Given the description of an element on the screen output the (x, y) to click on. 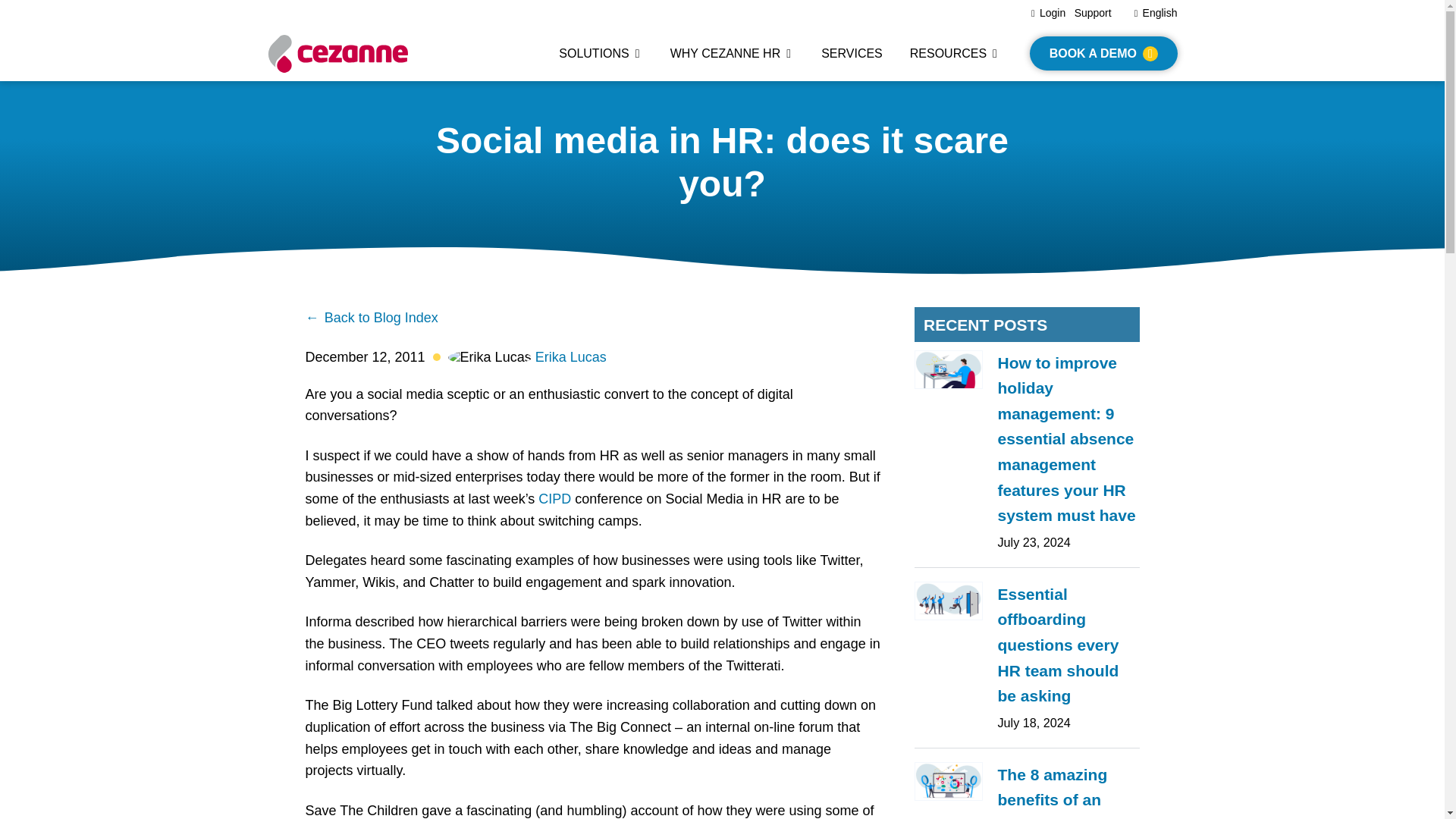
Support (1093, 12)
Login (1047, 12)
CIPD website (554, 498)
English (1155, 12)
SOLUTIONS (600, 53)
